Given the description of an element on the screen output the (x, y) to click on. 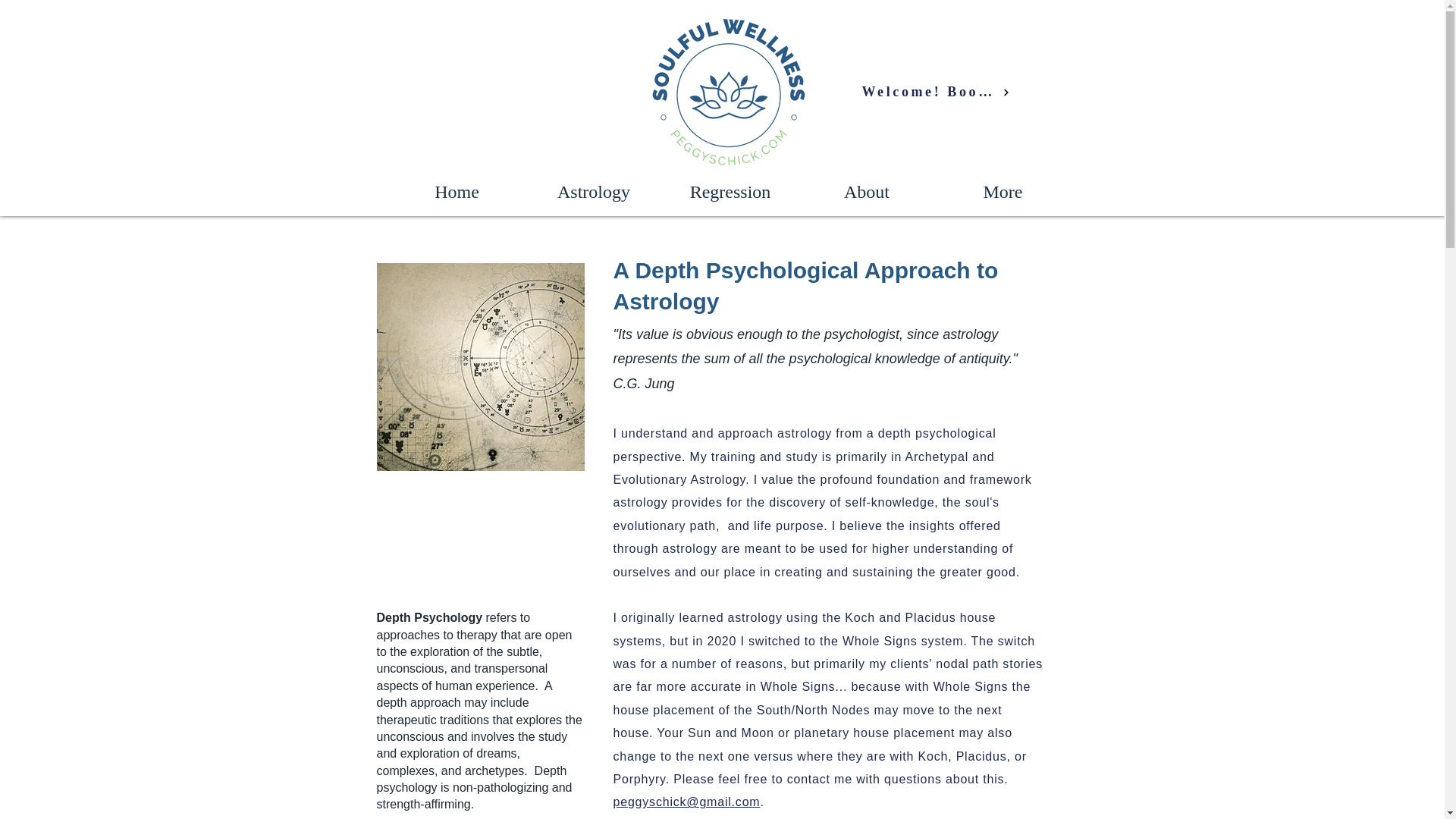
Welcome! Book Now (935, 92)
Regression (729, 191)
Home (456, 191)
More (1002, 191)
About (865, 191)
